Given the description of an element on the screen output the (x, y) to click on. 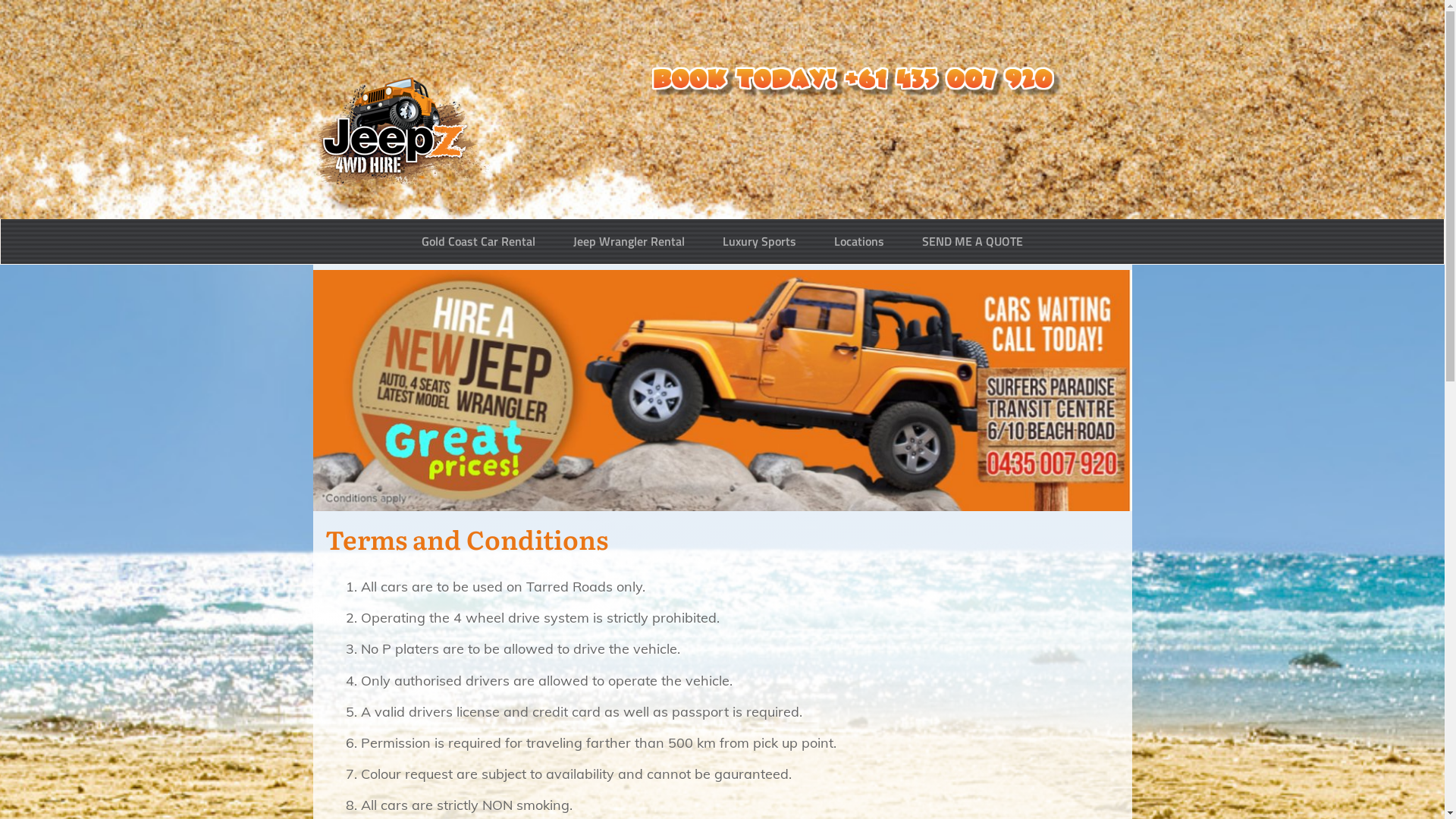
Locations Element type: text (859, 241)
cooltext-357232171558240 Element type: hover (856, 81)
Terms and Conditions Element type: text (465, 537)
Gold Coast Car Rental Element type: text (478, 241)
SEND ME A QUOTE Element type: text (972, 241)
Jeep Wrangler Rental Element type: text (628, 241)
Luxury Sports Element type: text (759, 241)
